Given the description of an element on the screen output the (x, y) to click on. 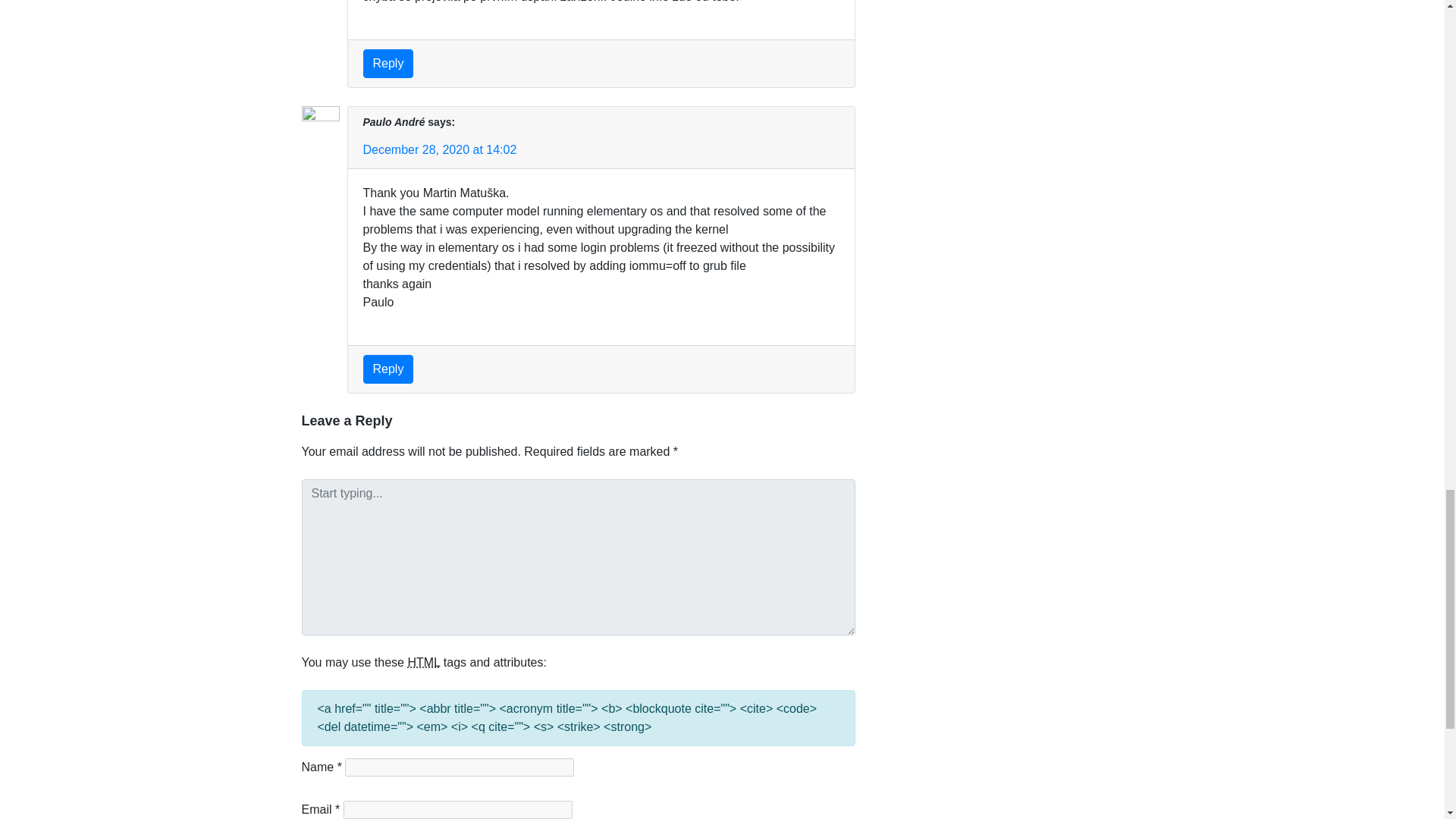
Reply (387, 63)
December 28, 2020 at 14:02 (439, 149)
HyperText Markup Language (423, 662)
Reply (387, 369)
